Given the description of an element on the screen output the (x, y) to click on. 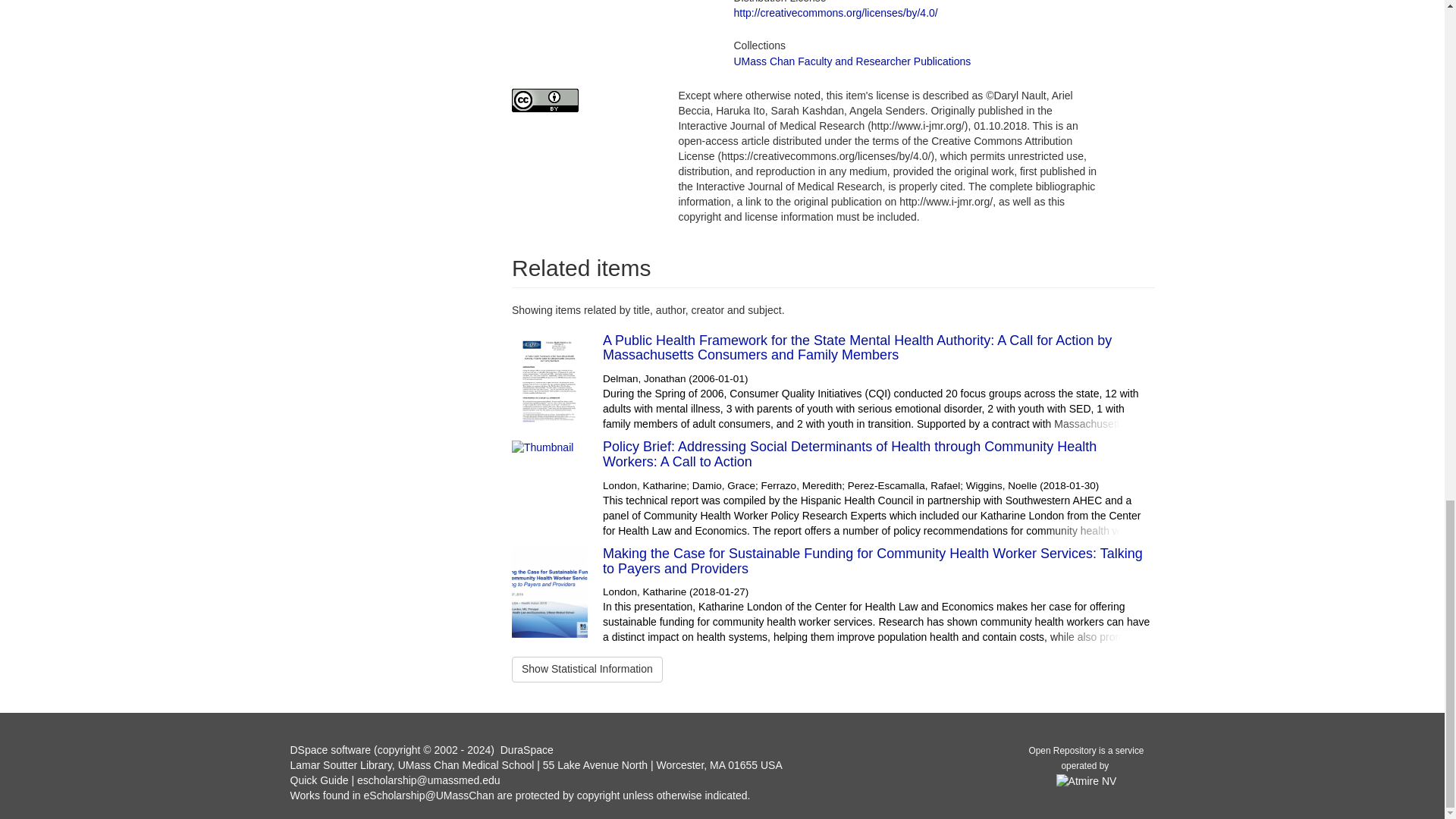
Click to expand (833, 592)
Atmire NV (1086, 779)
Click to expand (833, 379)
Click to expand (833, 485)
